Given the description of an element on the screen output the (x, y) to click on. 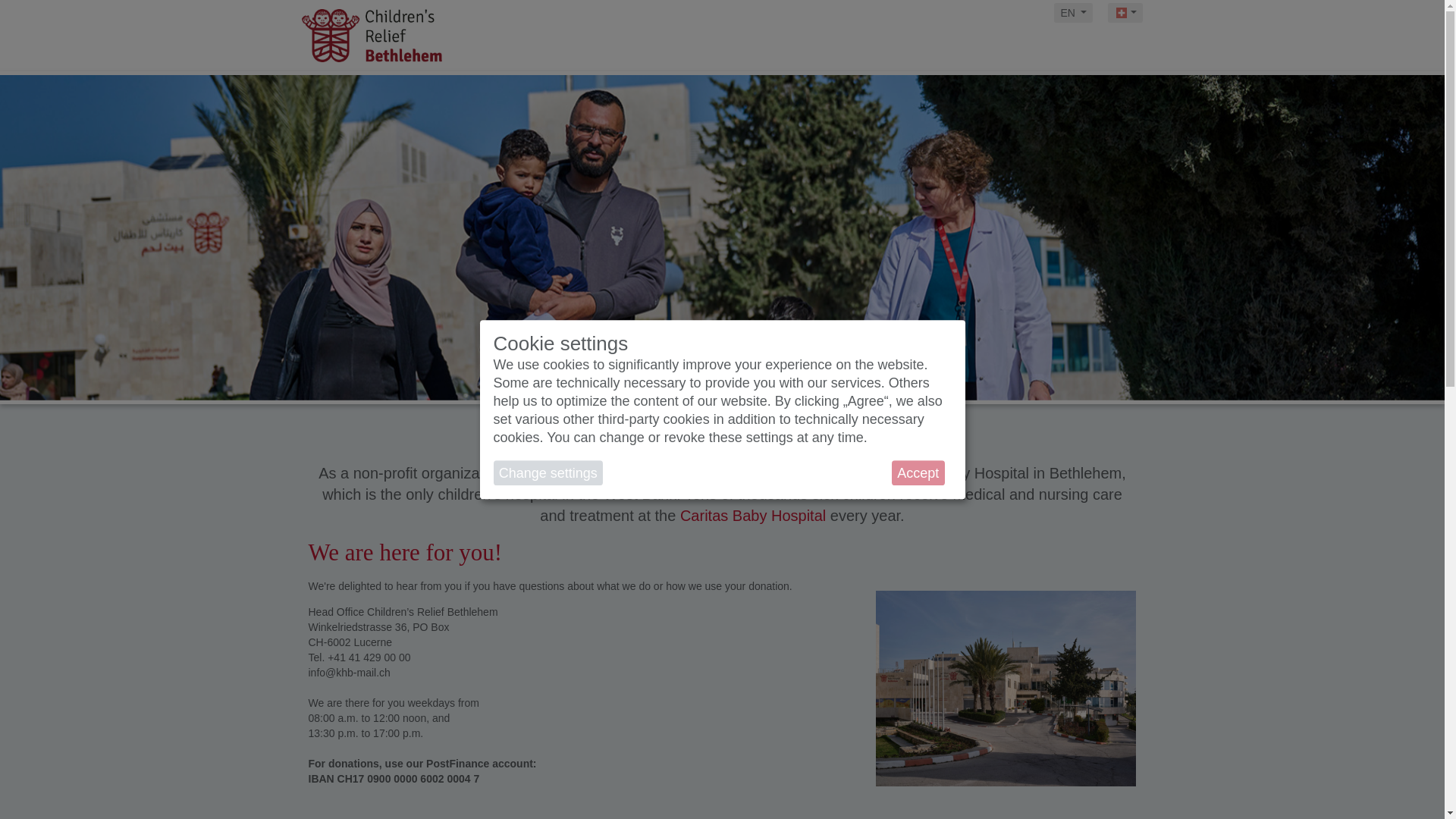
Caritas Baby Hospital (752, 515)
Change settings (547, 473)
EN (1073, 12)
Accept (917, 473)
kinderhilfe-bethlehem.ch (434, 35)
